Given the description of an element on the screen output the (x, y) to click on. 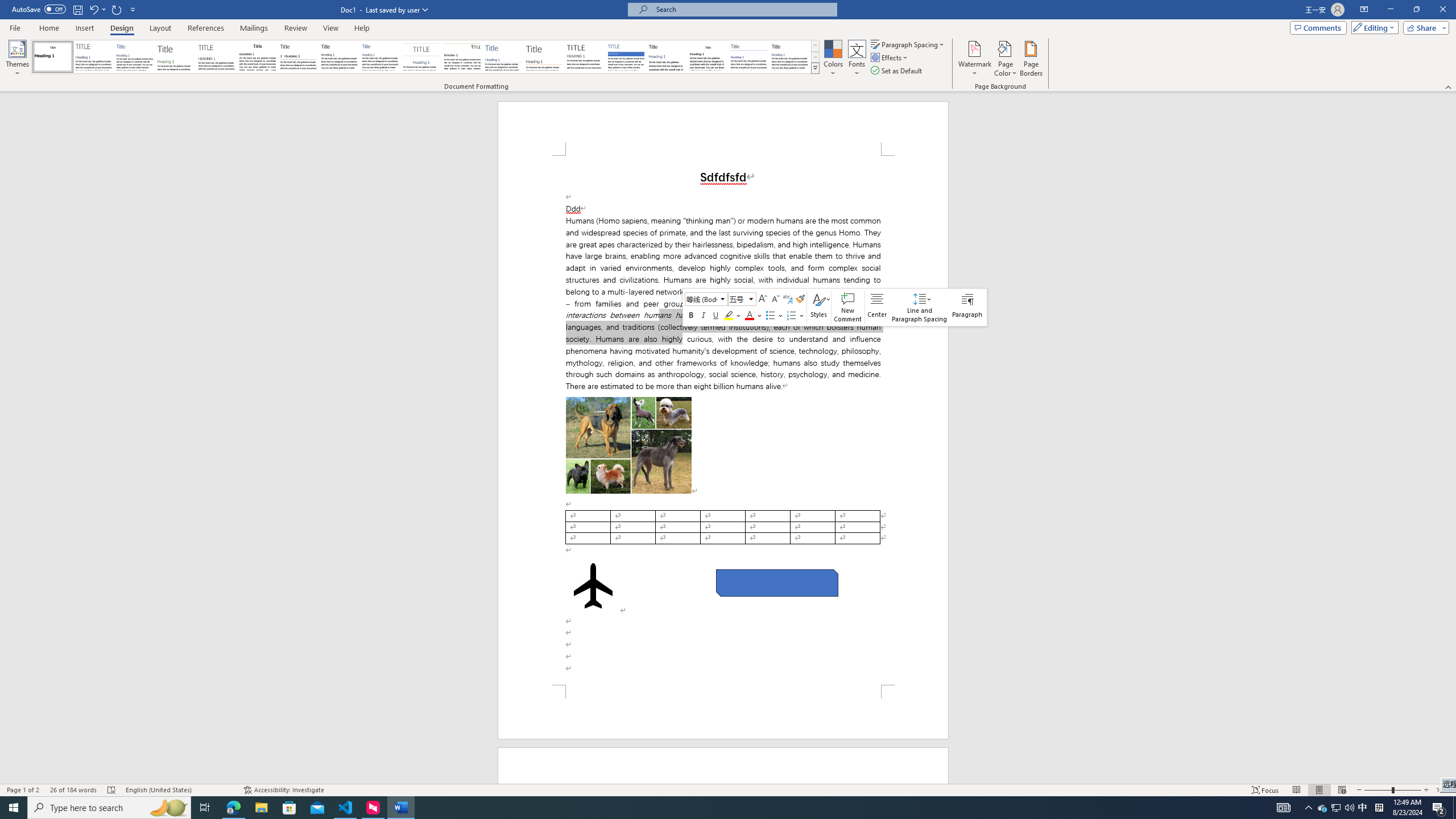
AutomationID: QuickStylesSets (425, 56)
Bold (690, 315)
Text Highlight Color (733, 315)
Grow Font (762, 299)
Styles (818, 307)
Class: NetUITextbox (736, 298)
Basic (Elegant) (93, 56)
Class: NetUIToolWindow (834, 307)
